Given the description of an element on the screen output the (x, y) to click on. 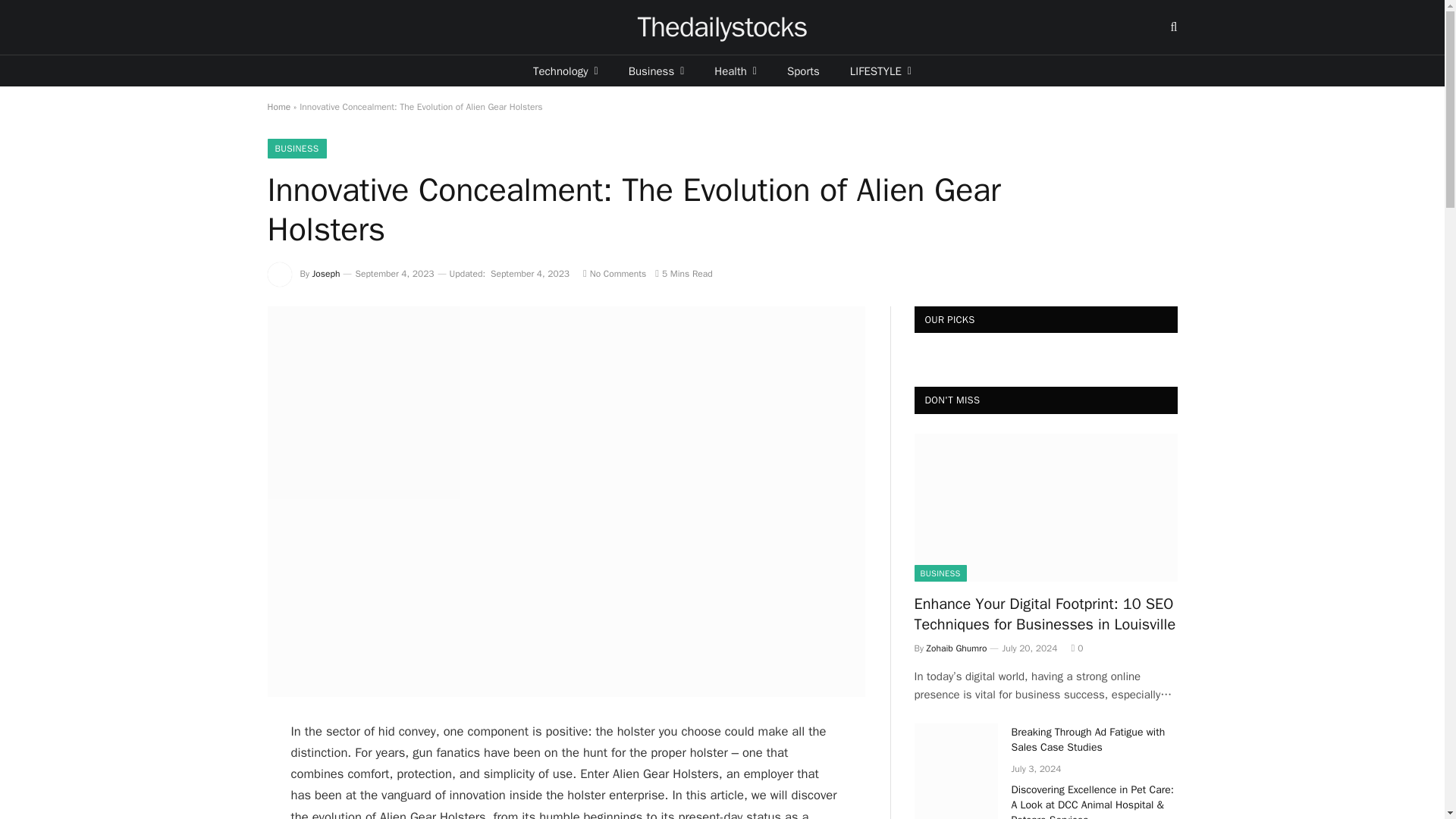
Technology (565, 70)
Thedailystocks (721, 26)
Health (734, 70)
Business (656, 70)
Thedailystocks (721, 26)
